Given the description of an element on the screen output the (x, y) to click on. 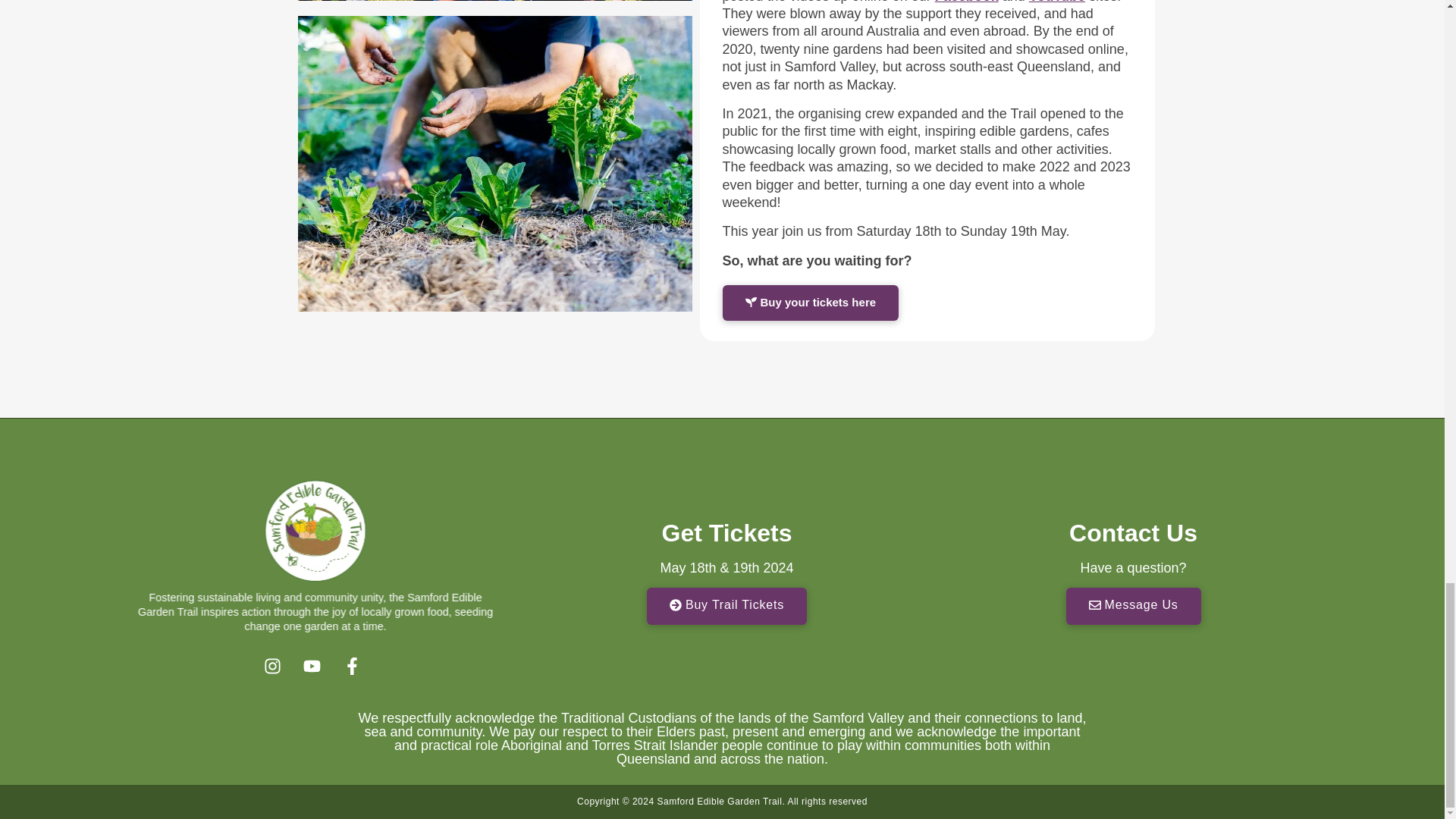
Message Us (1133, 606)
Facebook-f (355, 669)
Youtube (314, 669)
Buy Trail Tickets (726, 606)
Facebook (966, 2)
YouTube (1056, 2)
Instagram (275, 669)
Buy your tickets here (810, 303)
